Given the description of an element on the screen output the (x, y) to click on. 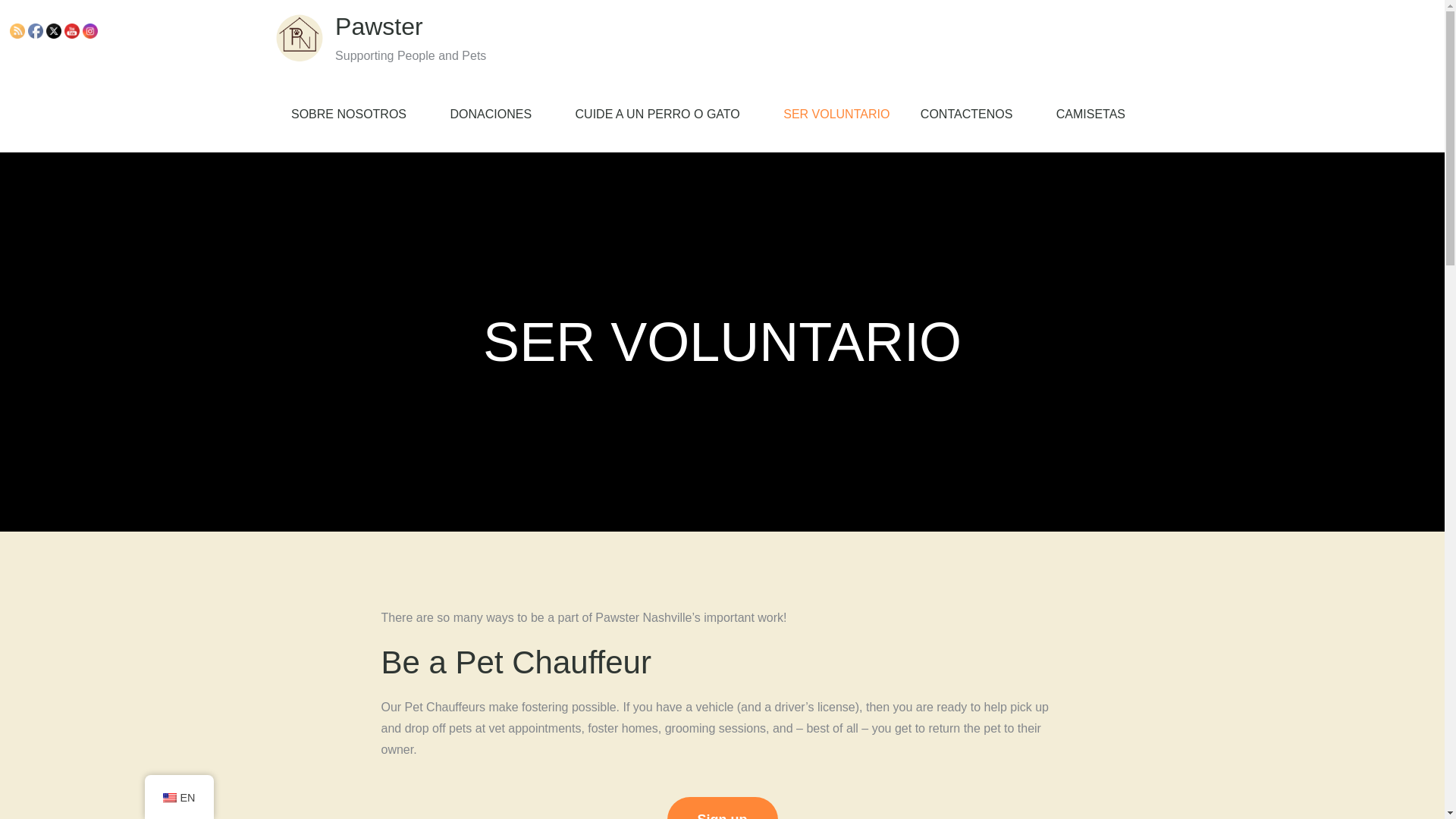
CAMISETAS (1090, 114)
DONACIONES (496, 114)
RSS Feed (17, 30)
Pawster (378, 26)
CUIDE A UN PERRO O GATO (664, 114)
Facebook (35, 30)
CONTACTENOS (973, 114)
SOBRE NOSOTROS (355, 114)
SER VOLUNTARIO (836, 114)
